Given the description of an element on the screen output the (x, y) to click on. 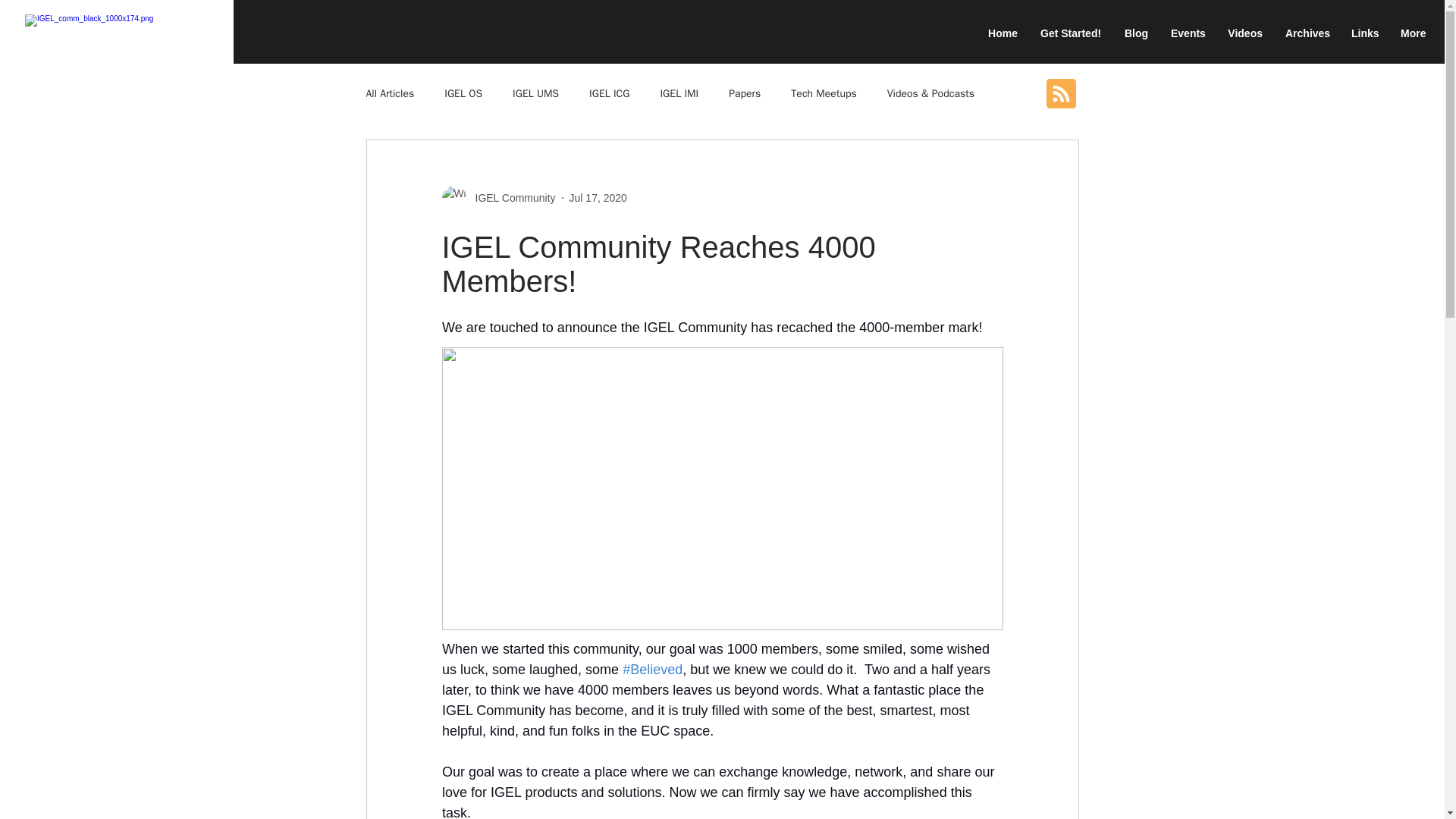
IGEL IMI (678, 93)
Jul 17, 2020 (598, 196)
IGEL ICG (608, 93)
Blog (1135, 32)
Links (1364, 32)
IGEL OS (462, 93)
IGEL Community (509, 197)
Events (1186, 32)
All Articles (389, 93)
Archives (1306, 32)
Videos (1244, 32)
Home (1002, 32)
Tech Meetups (823, 93)
Papers (744, 93)
IGEL UMS (535, 93)
